Given the description of an element on the screen output the (x, y) to click on. 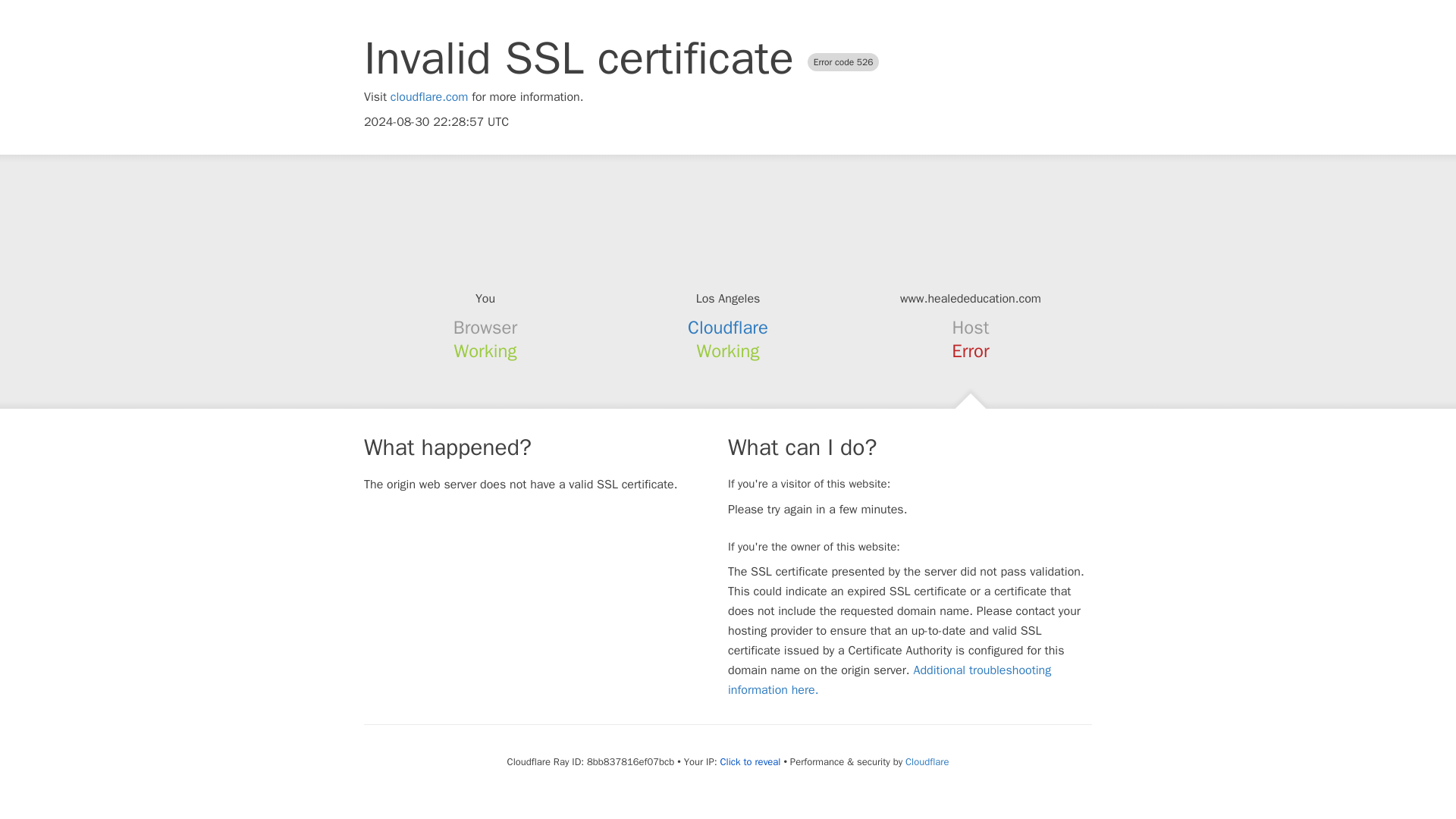
Cloudflare (927, 761)
cloudflare.com (429, 96)
Click to reveal (750, 762)
Cloudflare (727, 327)
Additional troubleshooting information here. (889, 679)
